Given the description of an element on the screen output the (x, y) to click on. 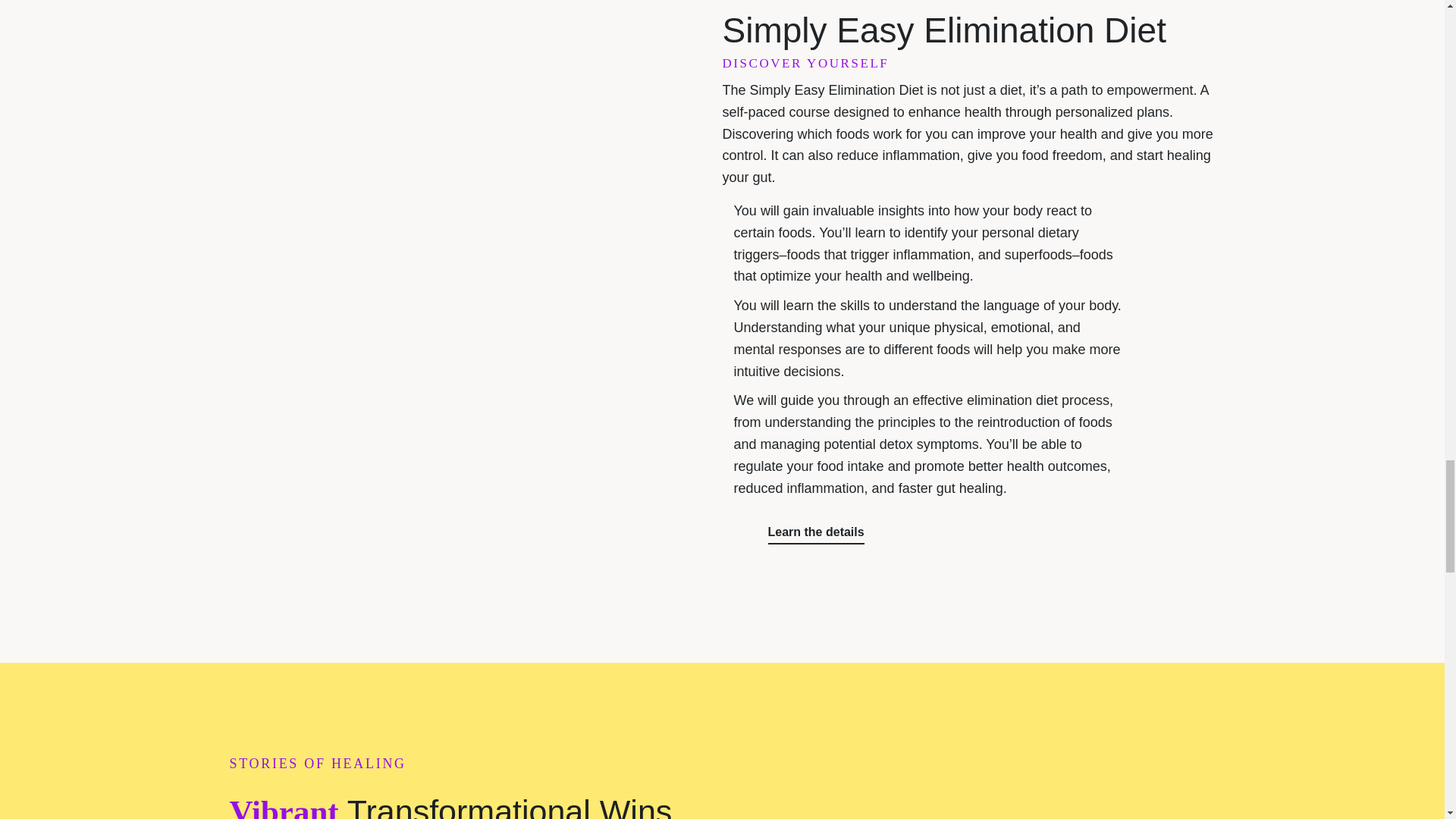
SEED Diet (445, 157)
Learn the details (815, 532)
